Given the description of an element on the screen output the (x, y) to click on. 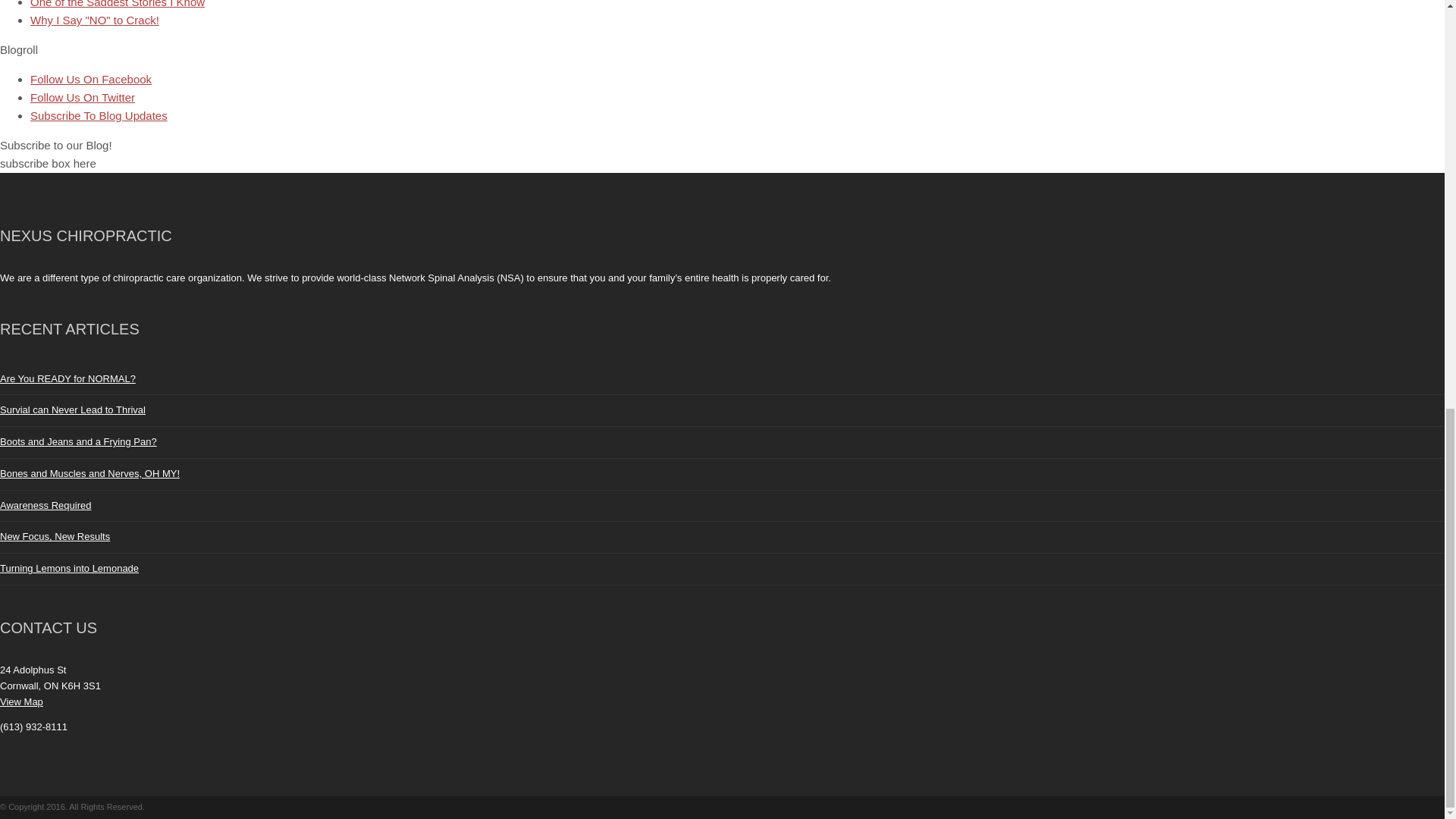
Why I Say "NO" to Crack! (94, 19)
Turning Lemons into Lemonade (69, 568)
Are You READY for NORMAL? (67, 378)
New Focus, New Results (55, 536)
One of the Saddest Stories I Know (117, 4)
Awareness Required (45, 505)
Bones and Muscles and Nerves, OH MY! (89, 473)
Follow Us On Facebook (90, 78)
Follow Us On Twitter (82, 97)
Survial can Never Lead to Thrival (72, 409)
View Map (21, 701)
Boots and Jeans and a Frying Pan? (78, 441)
Subscribe To Blog Updates (98, 115)
